Given the description of an element on the screen output the (x, y) to click on. 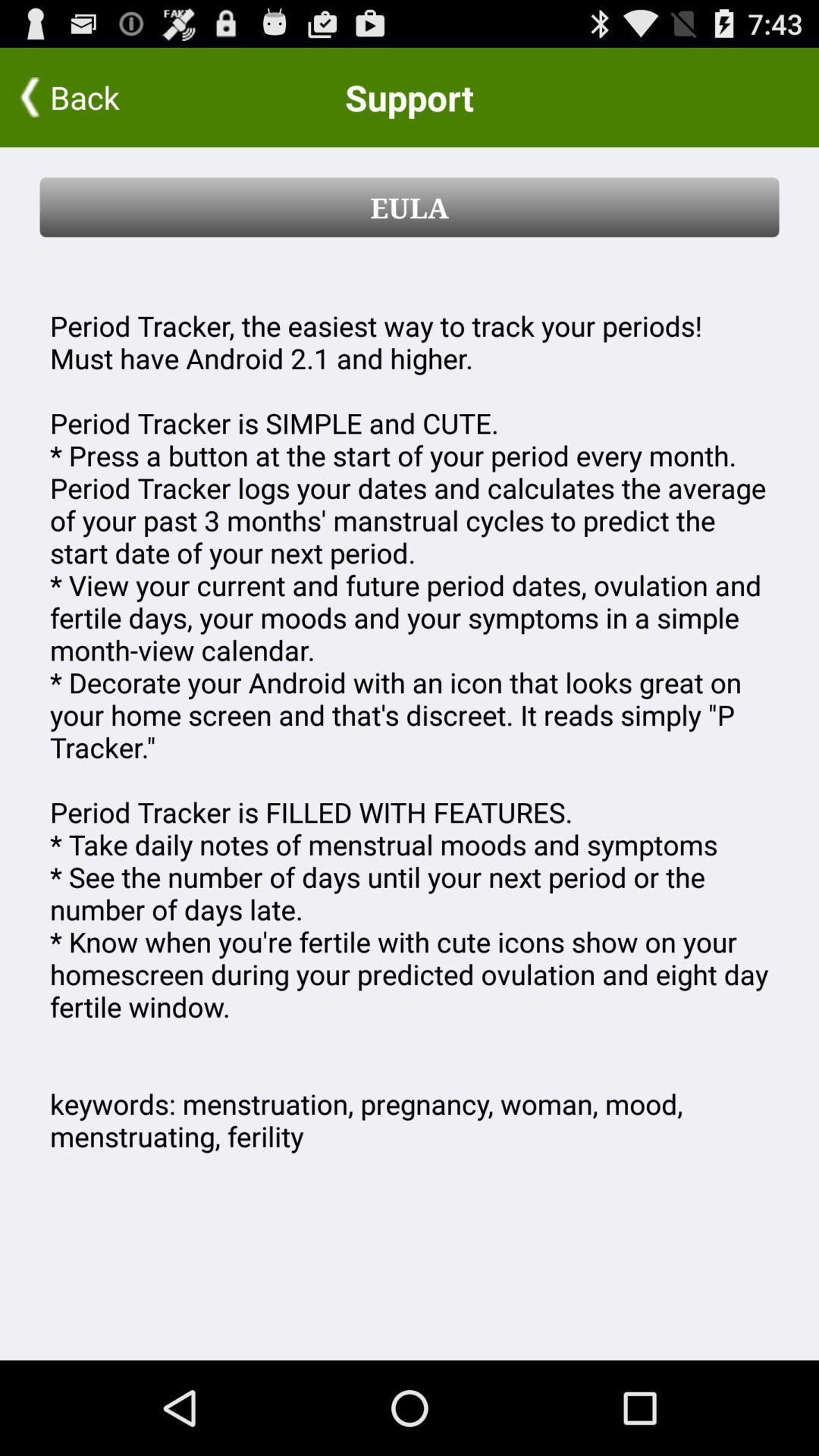
jump until the eula (409, 207)
